Given the description of an element on the screen output the (x, y) to click on. 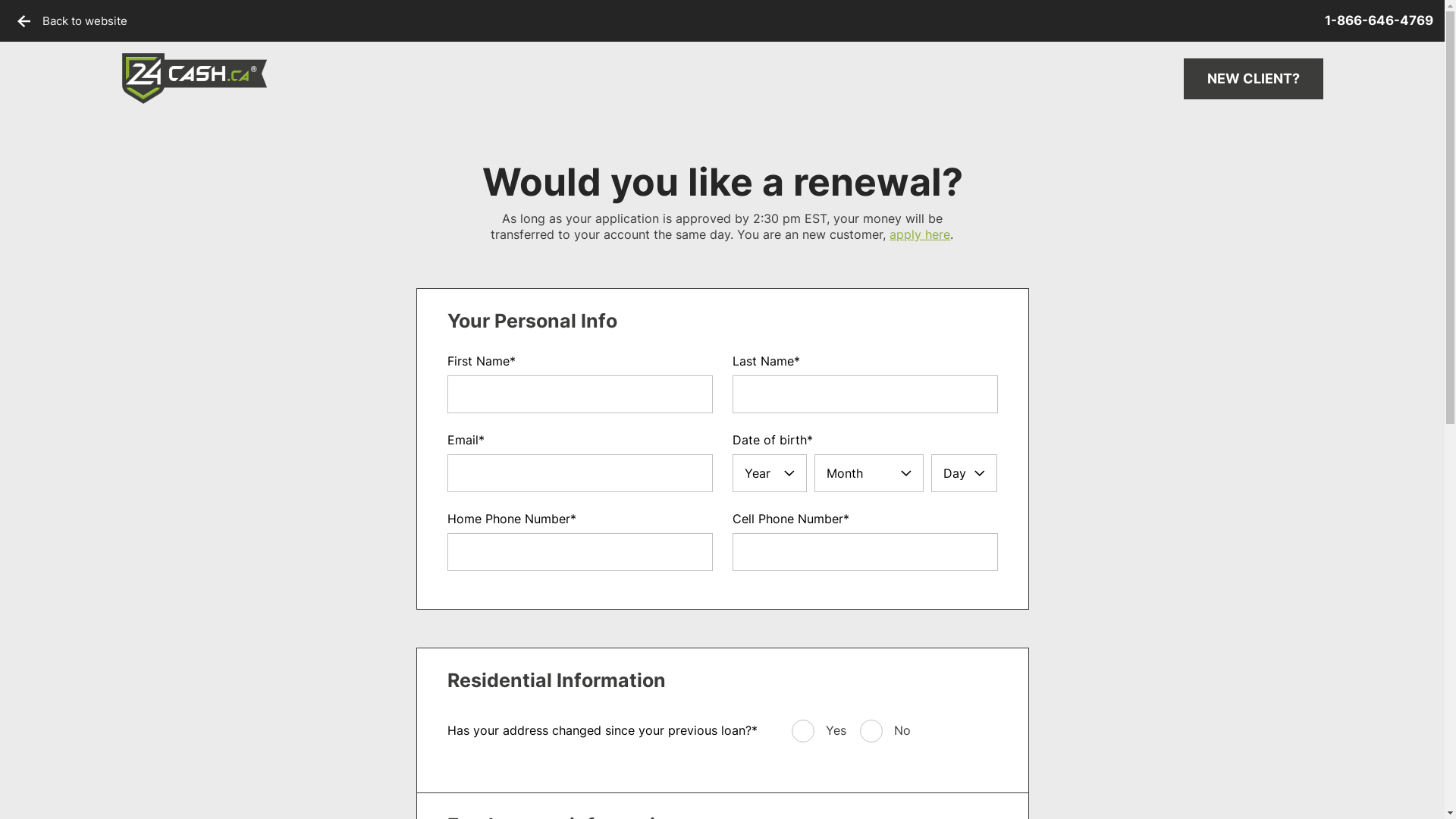
1-866-646-4769 Element type: text (1378, 20)
Back to website Element type: text (72, 20)
apply here Element type: text (919, 233)
NEW CLIENT? Element type: text (1252, 78)
